Given the description of an element on the screen output the (x, y) to click on. 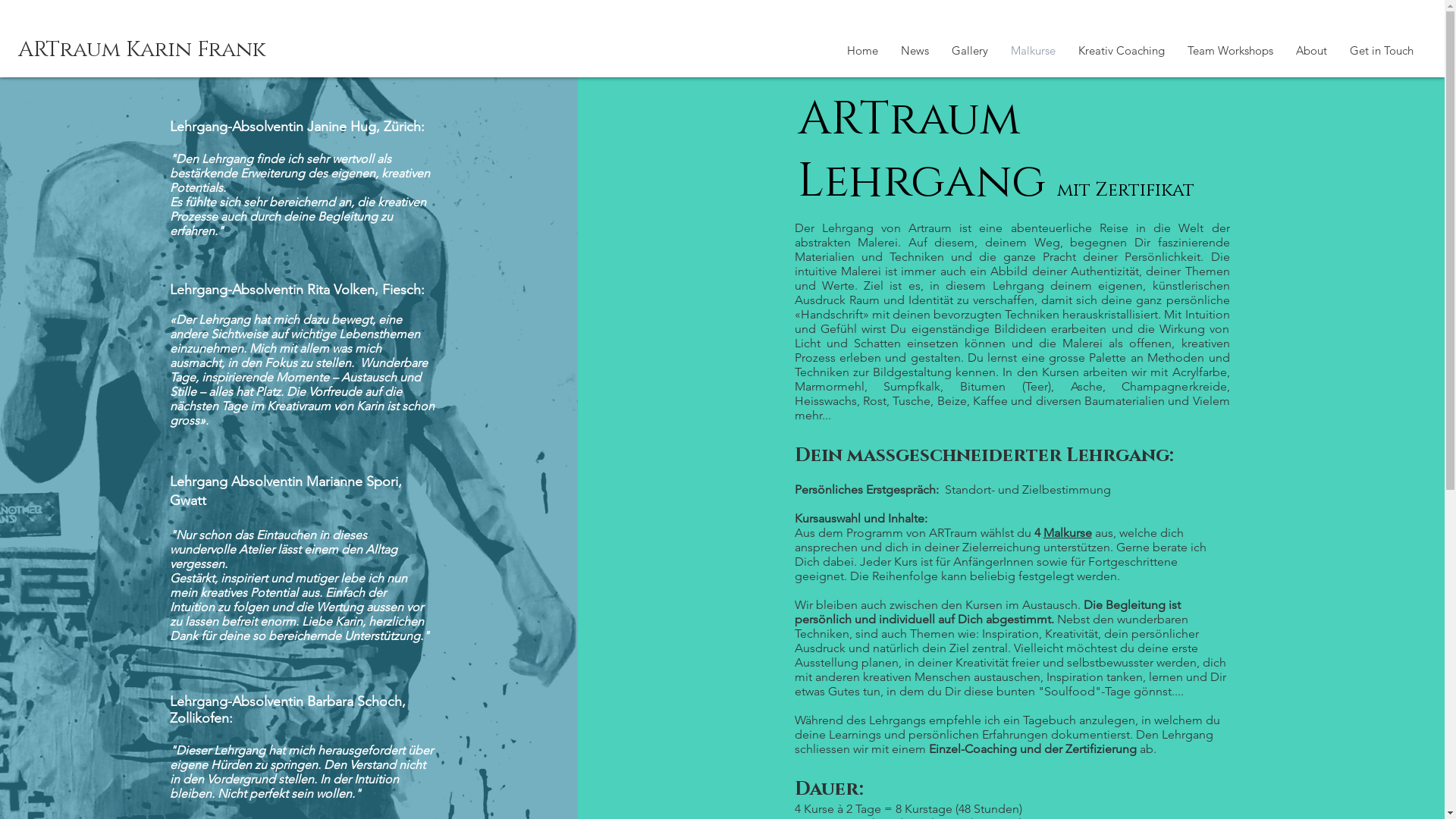
News Element type: text (914, 50)
Malkurse Element type: text (1032, 50)
Malkurse Element type: text (1067, 532)
Team Workshops Element type: text (1230, 50)
Home Element type: text (862, 50)
Gallery Element type: text (969, 50)
ARTraum Karin Frank Element type: text (132, 49)
About Element type: text (1311, 50)
Kreativ Coaching Element type: text (1121, 50)
Get in Touch Element type: text (1381, 50)
